Given the description of an element on the screen output the (x, y) to click on. 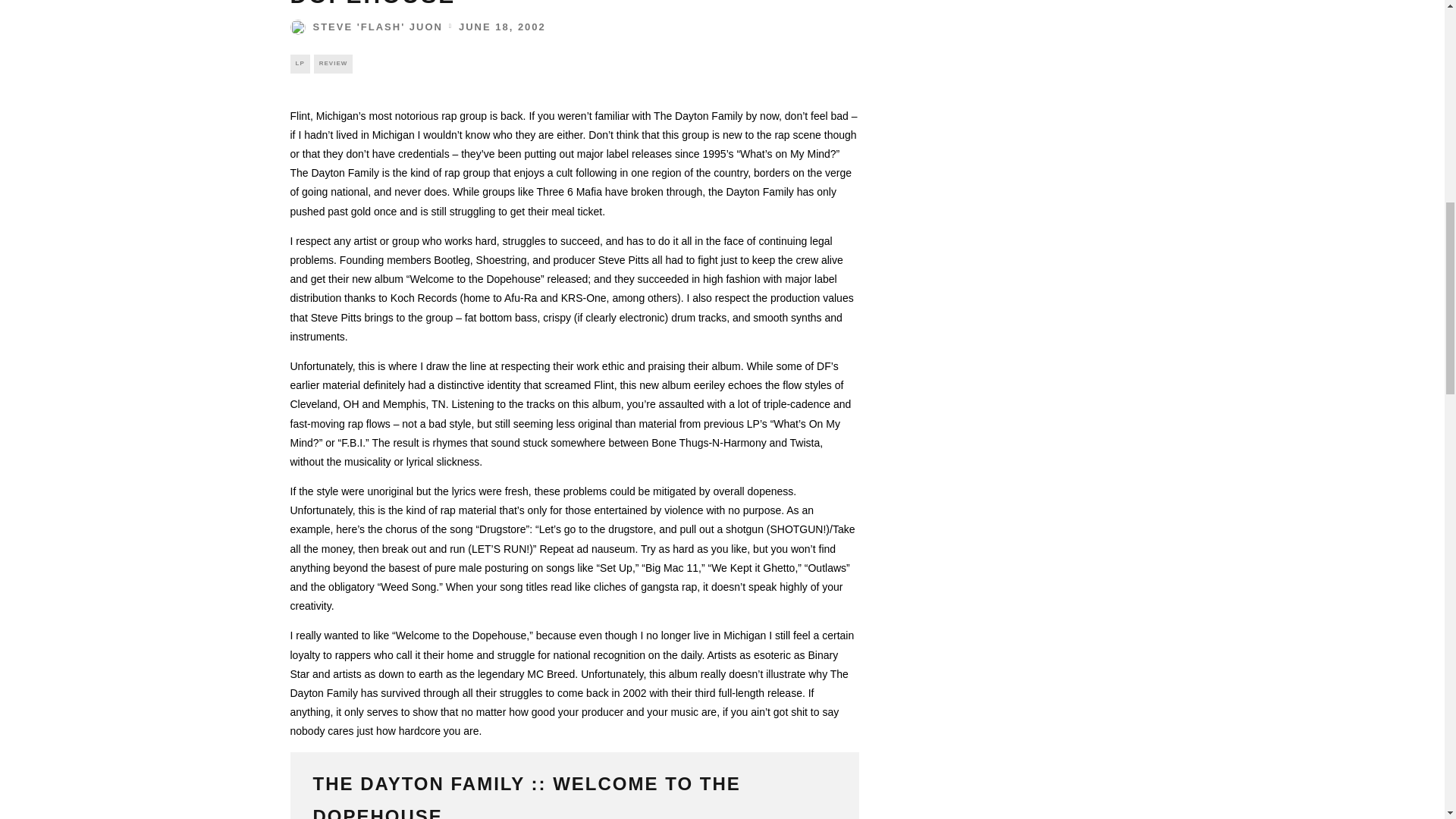
View all posts in Review (333, 63)
View all posts in LP (298, 63)
